Given the description of an element on the screen output the (x, y) to click on. 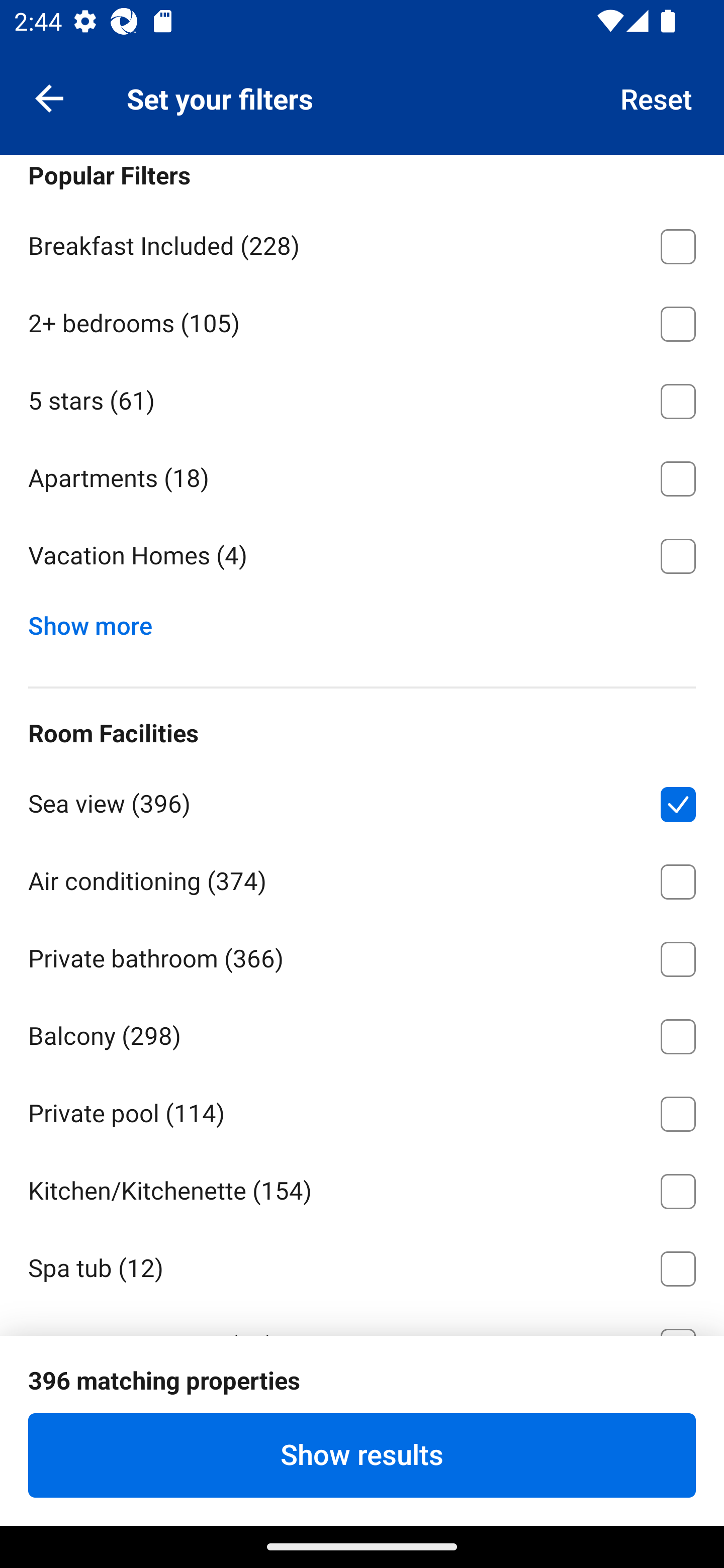
Navigate up (49, 97)
Reset (656, 97)
Breakfast Included ⁦(228) (361, 242)
2+ bedrooms ⁦(105) (361, 320)
5 stars ⁦(61) (361, 398)
Apartments ⁦(18) (361, 475)
Vacation Homes ⁦(4) (361, 556)
Show more (97, 621)
Sea view ⁦(396) (361, 801)
Air conditioning ⁦(374) (361, 878)
Private bathroom ⁦(366) (361, 955)
Balcony ⁦(298) (361, 1033)
Private pool ⁦(114) (361, 1110)
Kitchen/Kitchenette ⁦(154) (361, 1187)
Spa tub ⁦(12) (361, 1265)
Show results (361, 1454)
